Given the description of an element on the screen output the (x, y) to click on. 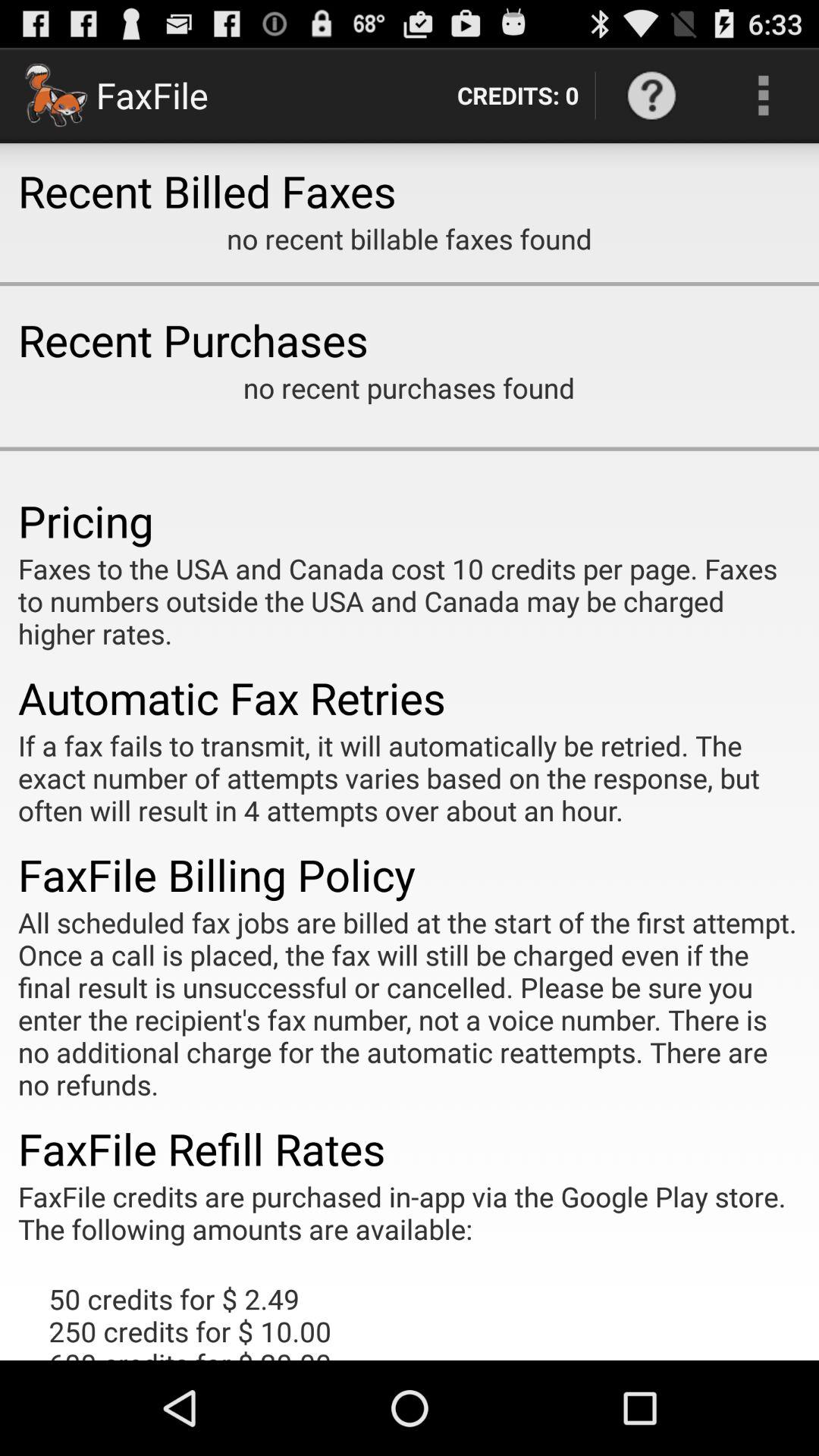
open item next to the credits: 0 item (651, 95)
